Given the description of an element on the screen output the (x, y) to click on. 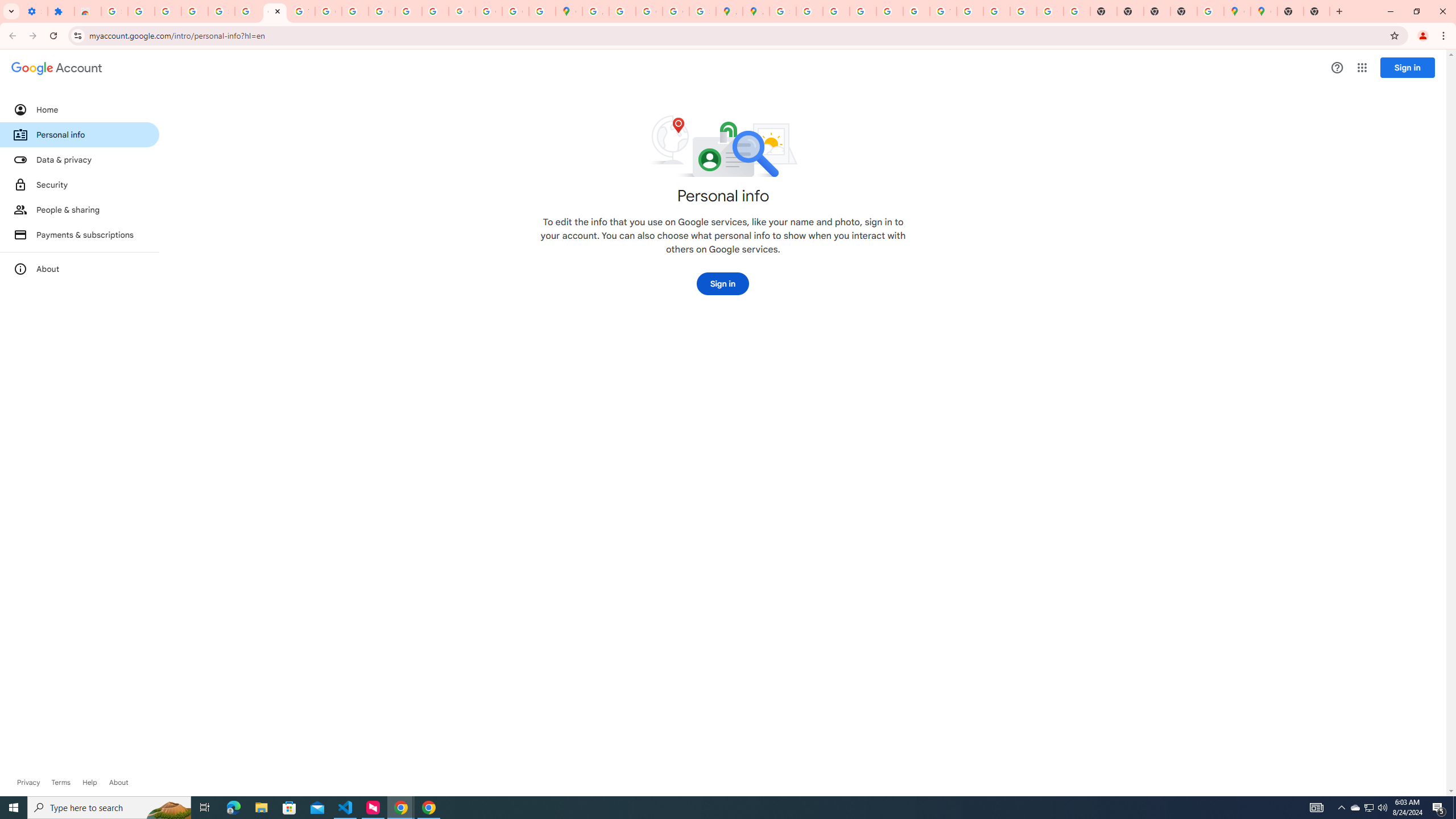
Sign in - Google Accounts (114, 11)
Sign in - Google Accounts (221, 11)
Privacy Help Center - Policies Help (836, 11)
Payments & subscriptions (79, 234)
